Given the description of an element on the screen output the (x, y) to click on. 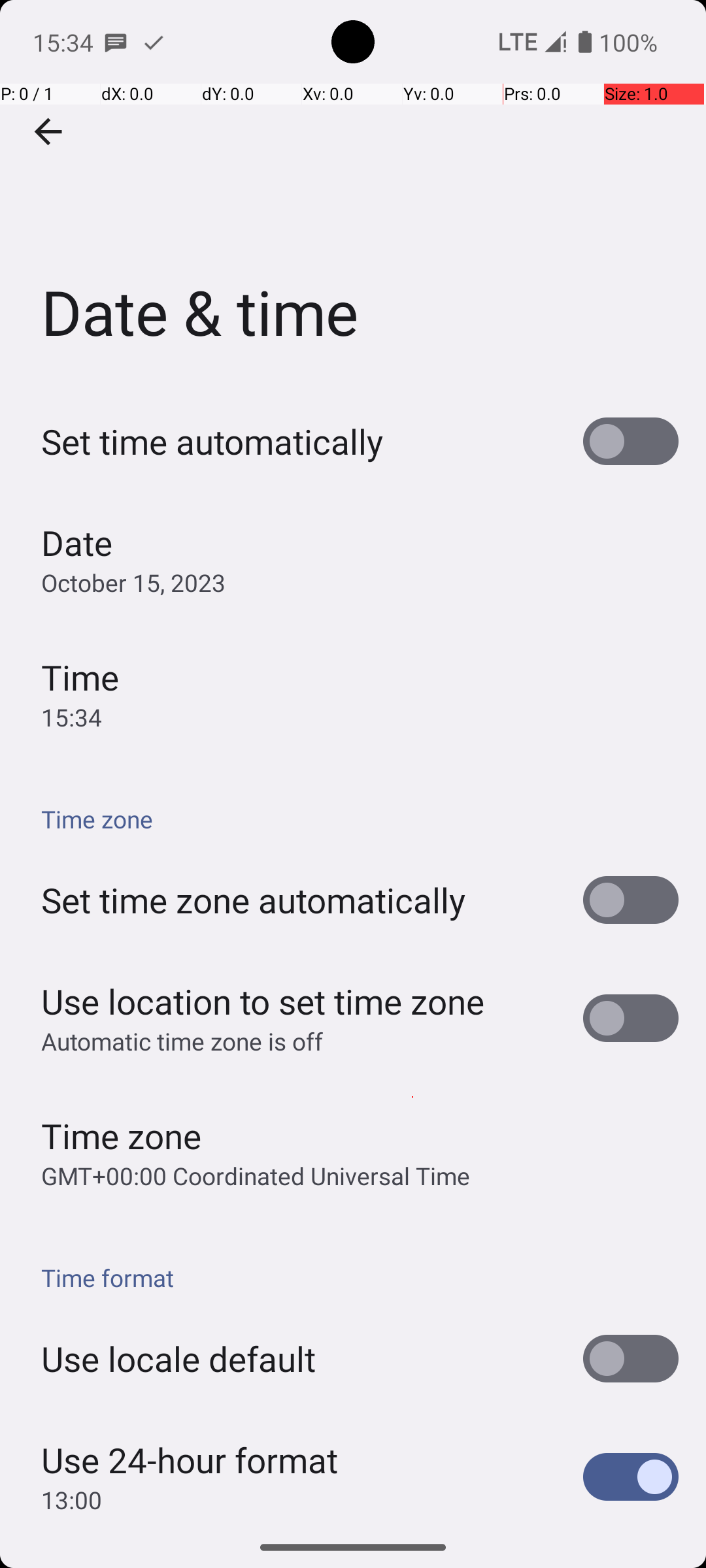
Date & time Element type: android.widget.FrameLayout (353, 195)
Set time automatically Element type: android.widget.TextView (212, 441)
October 15, 2023 Element type: android.widget.TextView (133, 582)
Time zone Element type: android.widget.TextView (359, 818)
Set time zone automatically Element type: android.widget.TextView (253, 899)
Use location to set time zone Element type: android.widget.TextView (263, 1001)
Automatic time zone is off Element type: android.widget.TextView (182, 1040)
GMT+00:00 Coordinated Universal Time Element type: android.widget.TextView (255, 1175)
Time format Element type: android.widget.TextView (359, 1277)
Use locale default Element type: android.widget.TextView (178, 1358)
Use 24-hour format Element type: android.widget.TextView (189, 1459)
SMS Messenger notification: Daniel Ali Element type: android.widget.ImageView (115, 41)
